Given the description of an element on the screen output the (x, y) to click on. 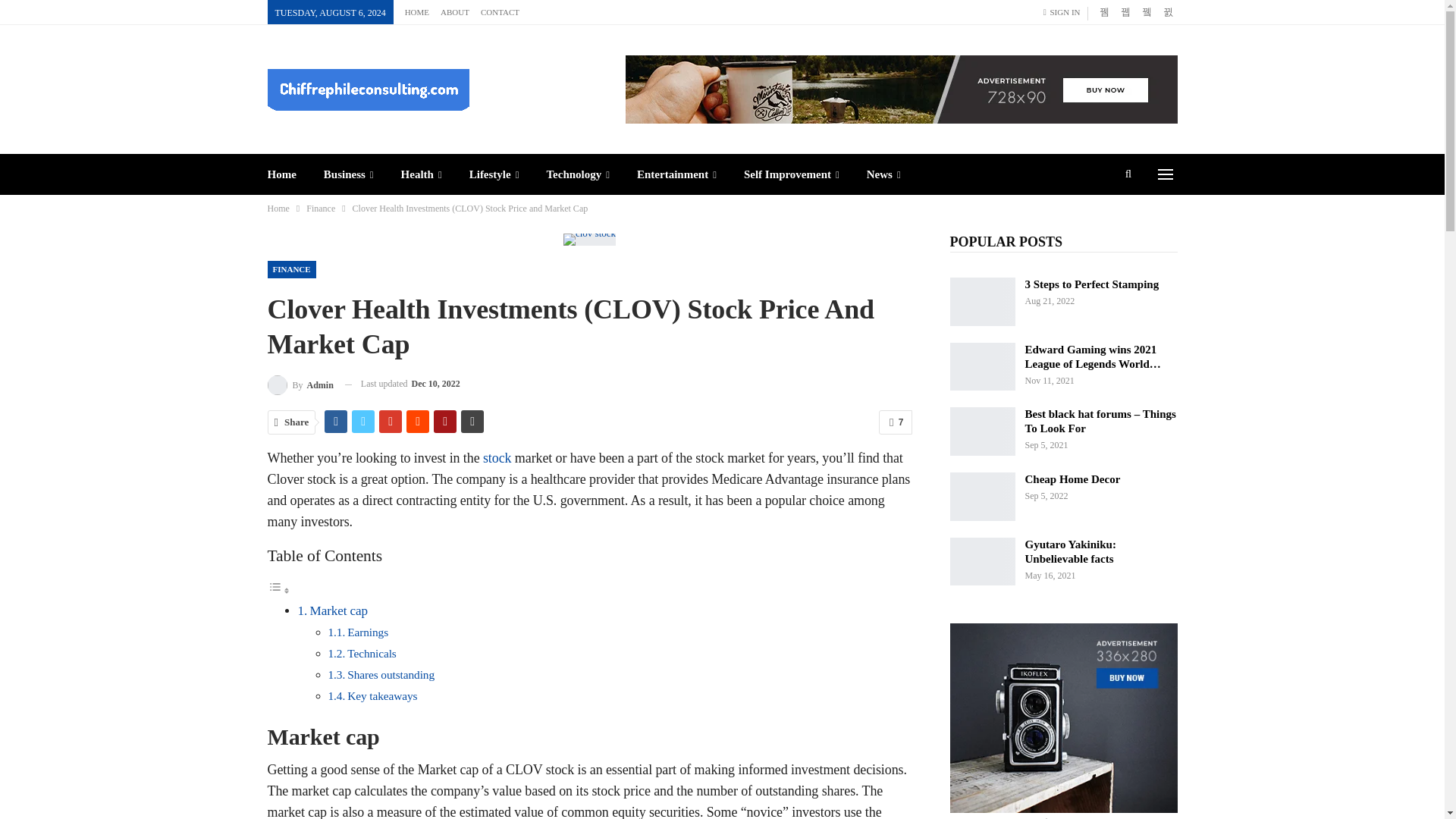
Browse Author Articles (299, 383)
ABOUT (454, 11)
SIGN IN (1064, 12)
Health (421, 173)
CONTACT (499, 11)
Shares outstanding (390, 674)
Technicals (371, 653)
Business (348, 173)
Technology (578, 173)
HOME (416, 11)
Key takeaways (381, 695)
Market cap (339, 610)
Lifestyle (493, 173)
Earnings (367, 631)
